Given the description of an element on the screen output the (x, y) to click on. 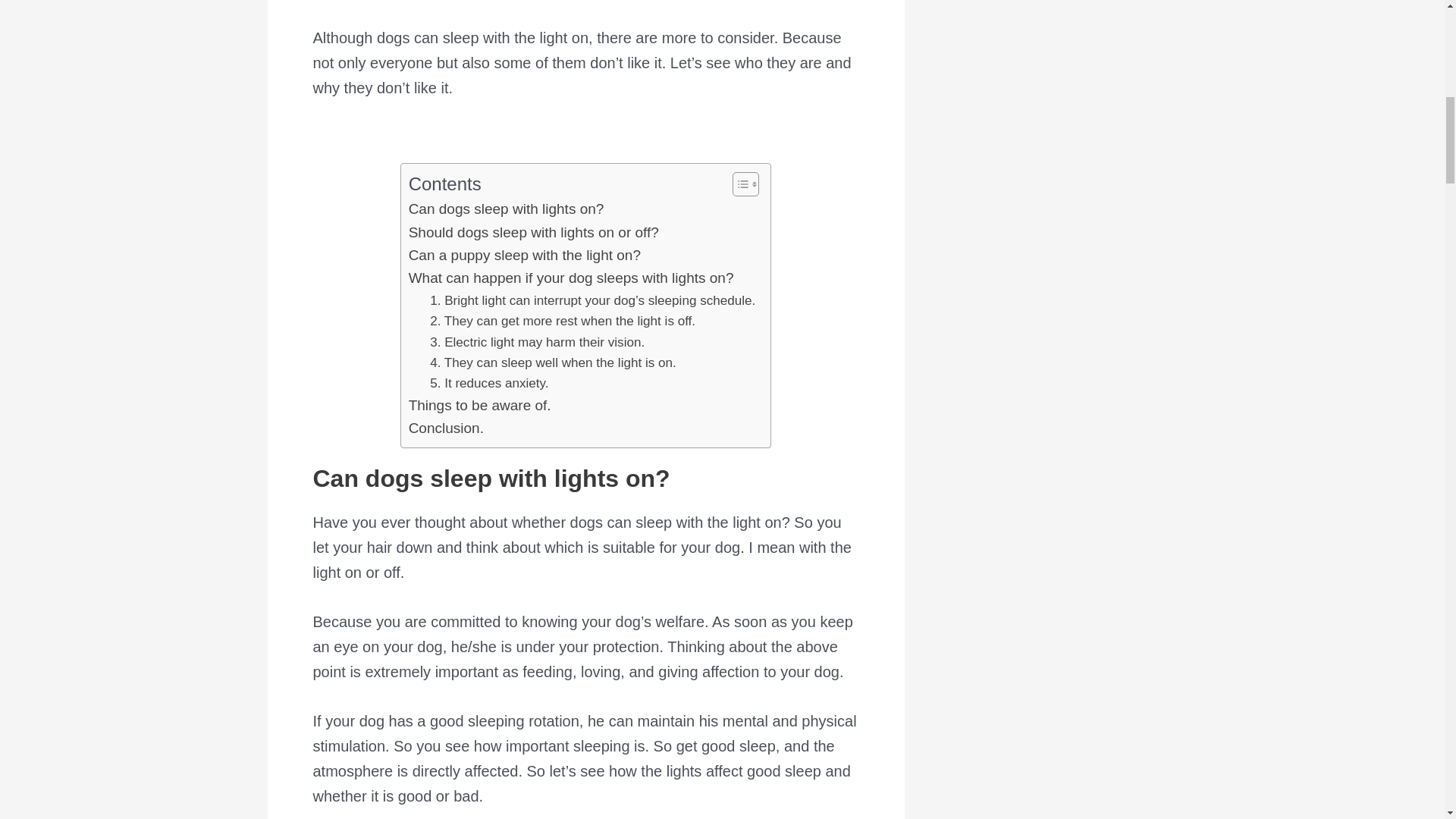
2. They can get more rest when the light is off. (562, 321)
What can happen if your dog sleeps with lights on? (571, 277)
5. It reduces anxiety. (488, 383)
2. They can get more rest when the light is off. (562, 321)
Conclusion. (446, 427)
Can dogs sleep with lights on? (506, 209)
3. Electric light may harm their vision. (537, 342)
Can dogs sleep with lights on? (506, 209)
Can a puppy sleep with the light on? (524, 255)
Things to be aware of. (480, 404)
